Given the description of an element on the screen output the (x, y) to click on. 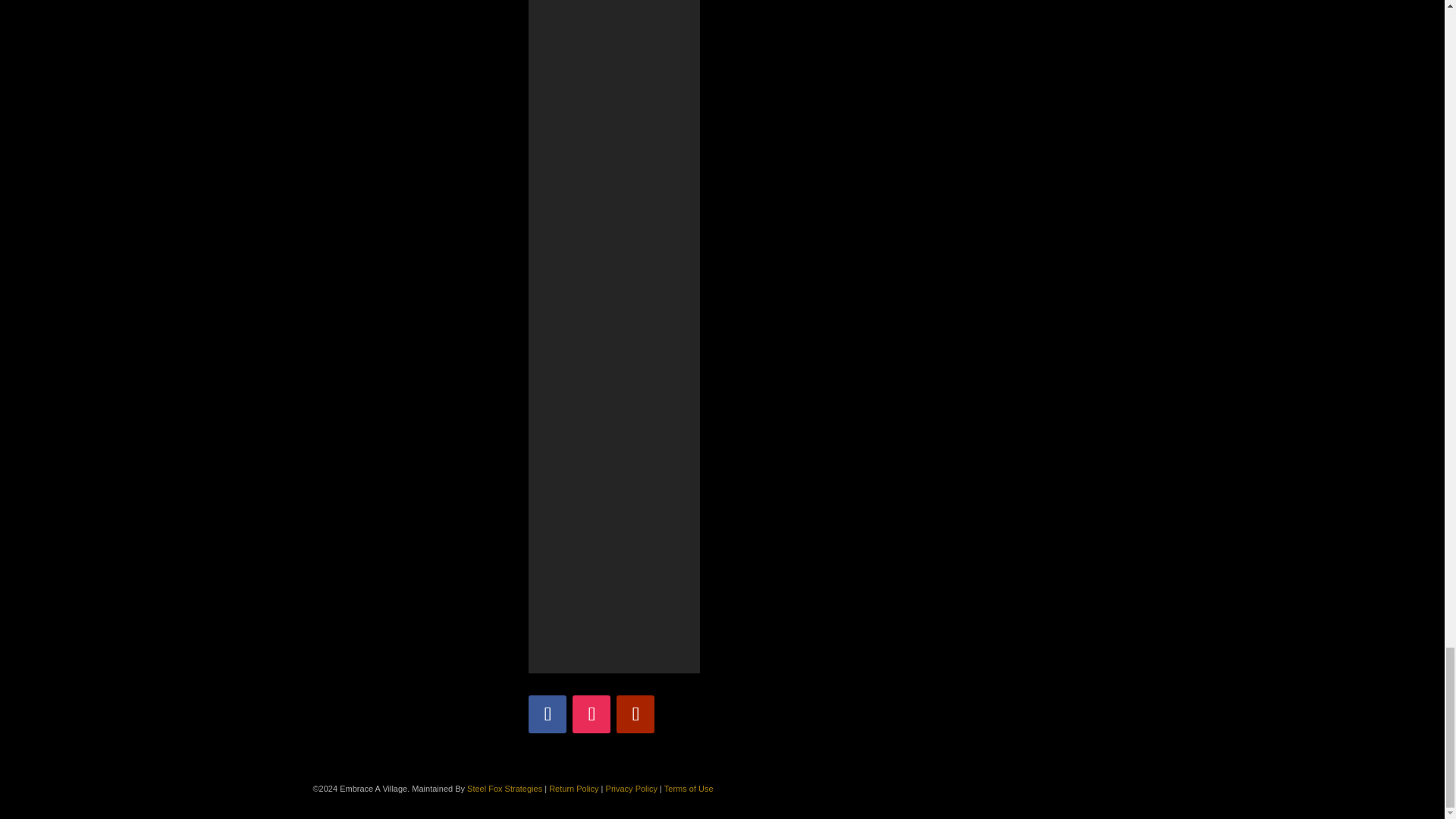
Follow on Instagram (591, 714)
Follow on Youtube (634, 714)
Follow on Facebook (547, 714)
